Given the description of an element on the screen output the (x, y) to click on. 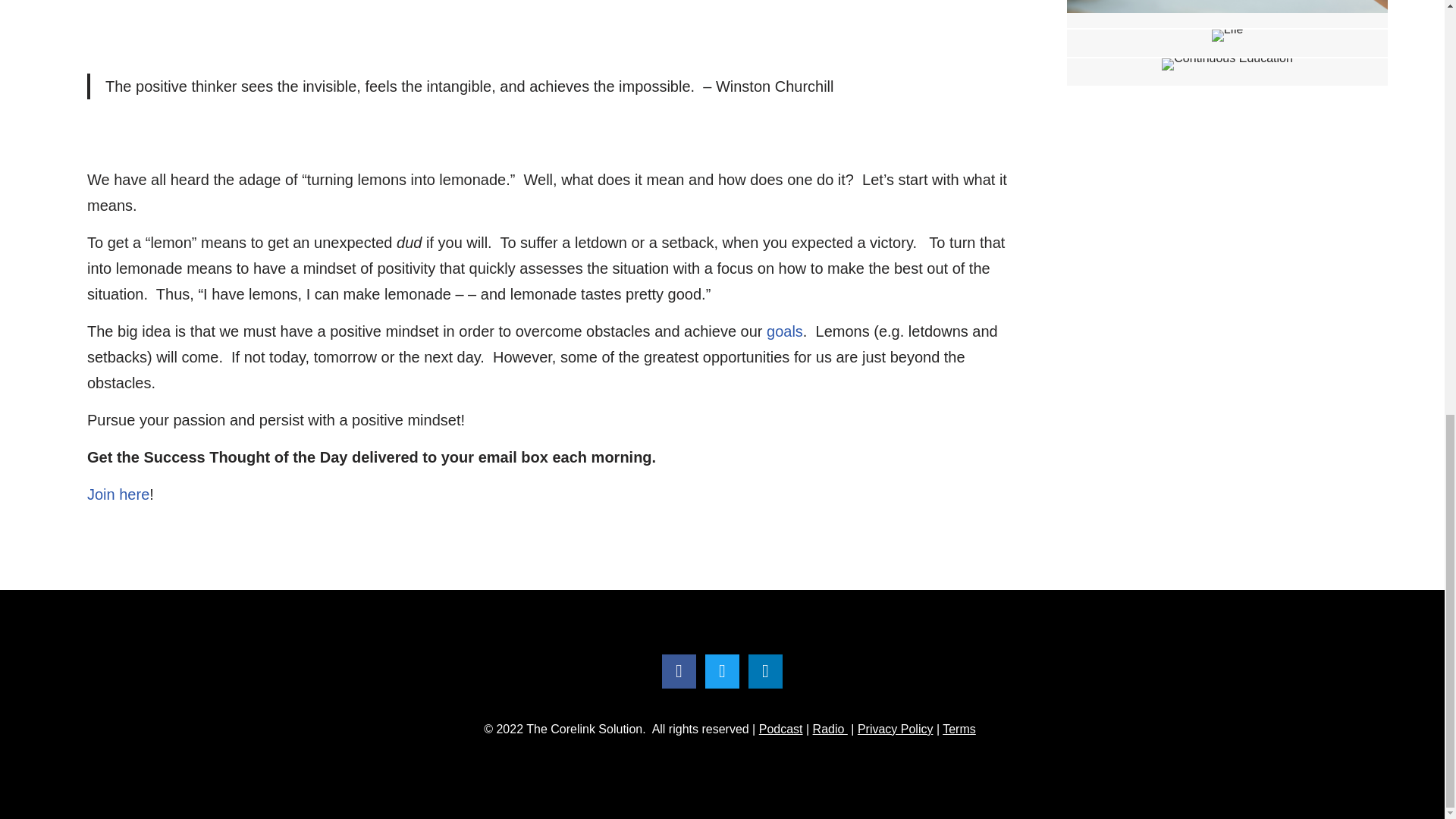
Podcast (780, 728)
work life balance (1227, 6)
Lifelong Learning Header (1227, 35)
goals (785, 330)
Radio (829, 728)
Privacy Policy (895, 728)
Join here (118, 494)
Terms (958, 728)
How To Master Work-Life Balance in 5 Easy Steps (1227, 13)
4 Ways Lifelong Learning Makes You A More Amazing You (1227, 42)
Continuous Education (1226, 64)
